Given the description of an element on the screen output the (x, y) to click on. 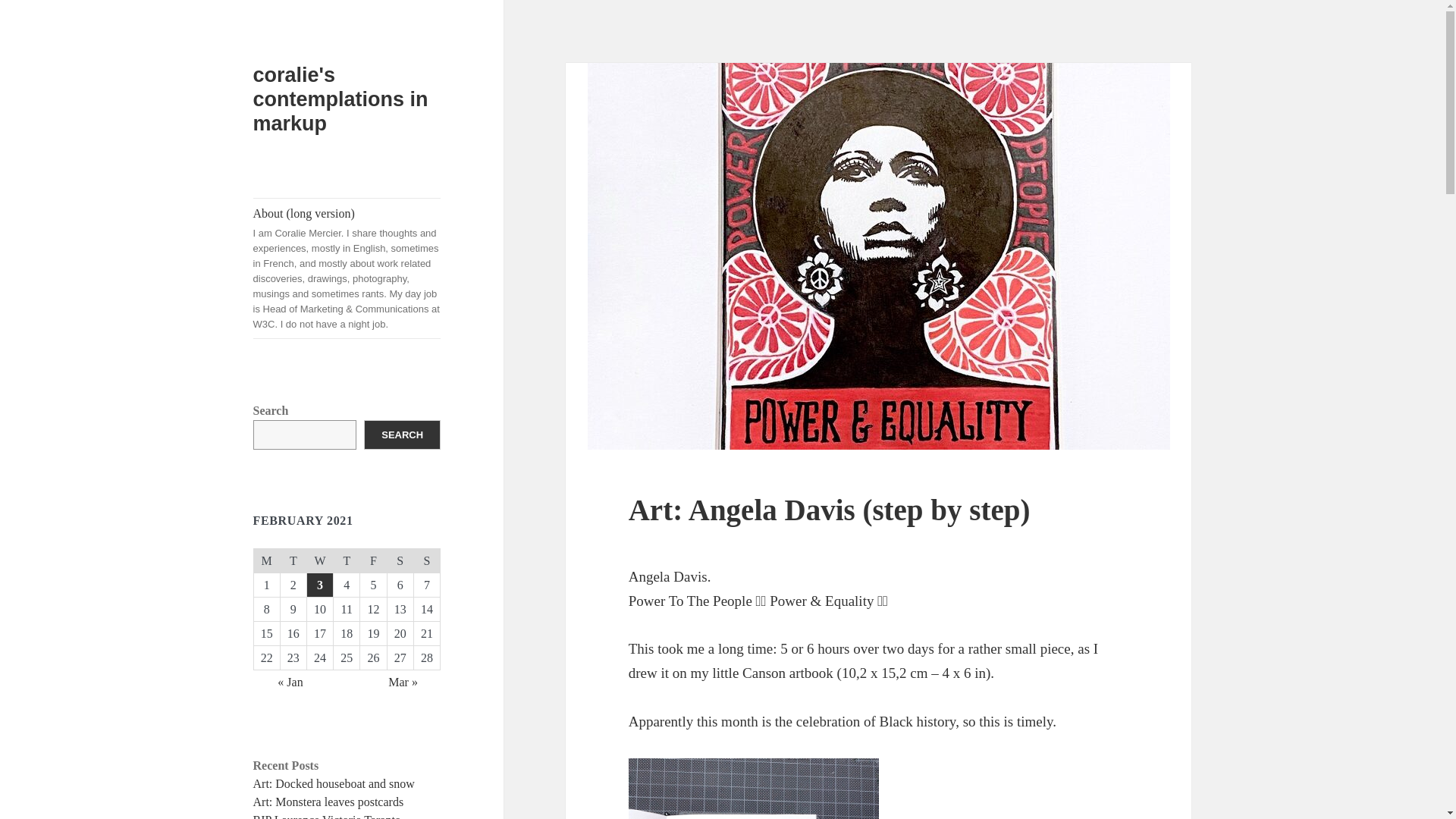
Monday (266, 560)
3 (320, 585)
Thursday (346, 560)
Art: Monstera leaves postcards (328, 801)
RIP Laurence Victoria Taranto Mercier (327, 816)
Friday (373, 560)
Wednesday (319, 560)
Art: Docked houseboat and snow (333, 783)
Saturday (400, 560)
Sunday (426, 560)
SEARCH (402, 434)
Tuesday (292, 560)
coralie's contemplations in markup (340, 99)
